Given the description of an element on the screen output the (x, y) to click on. 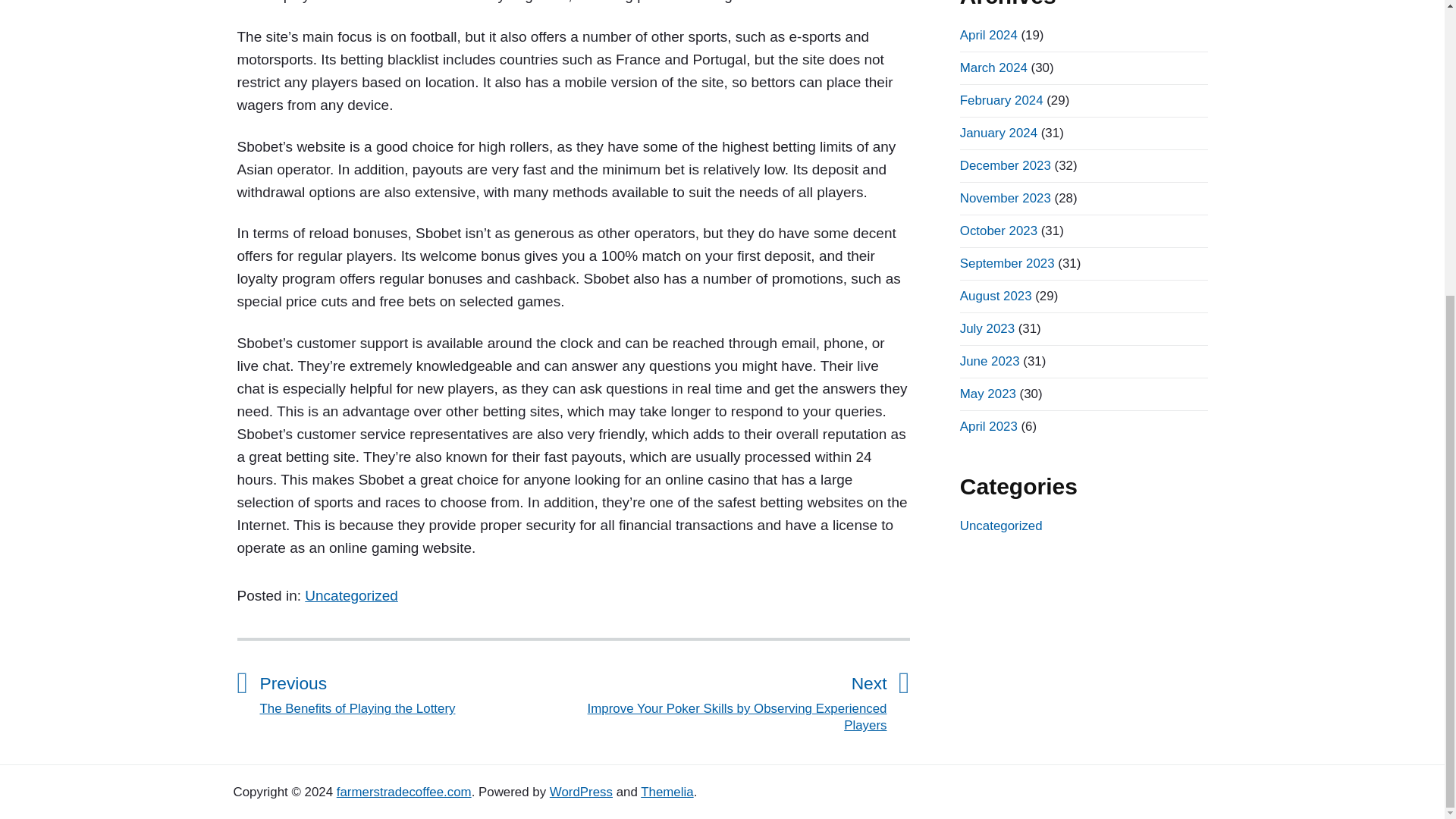
October 2023 (997, 230)
WordPress (581, 791)
January 2024 (997, 133)
Uncategorized (1000, 525)
Uncategorized (350, 595)
April 2023 (988, 426)
September 2023 (1006, 263)
July 2023 (986, 328)
February 2024 (1001, 100)
farmerstradecoffee.com (403, 791)
June 2023 (989, 360)
December 2023 (1005, 165)
August 2023 (995, 296)
May 2023 (987, 393)
